Given the description of an element on the screen output the (x, y) to click on. 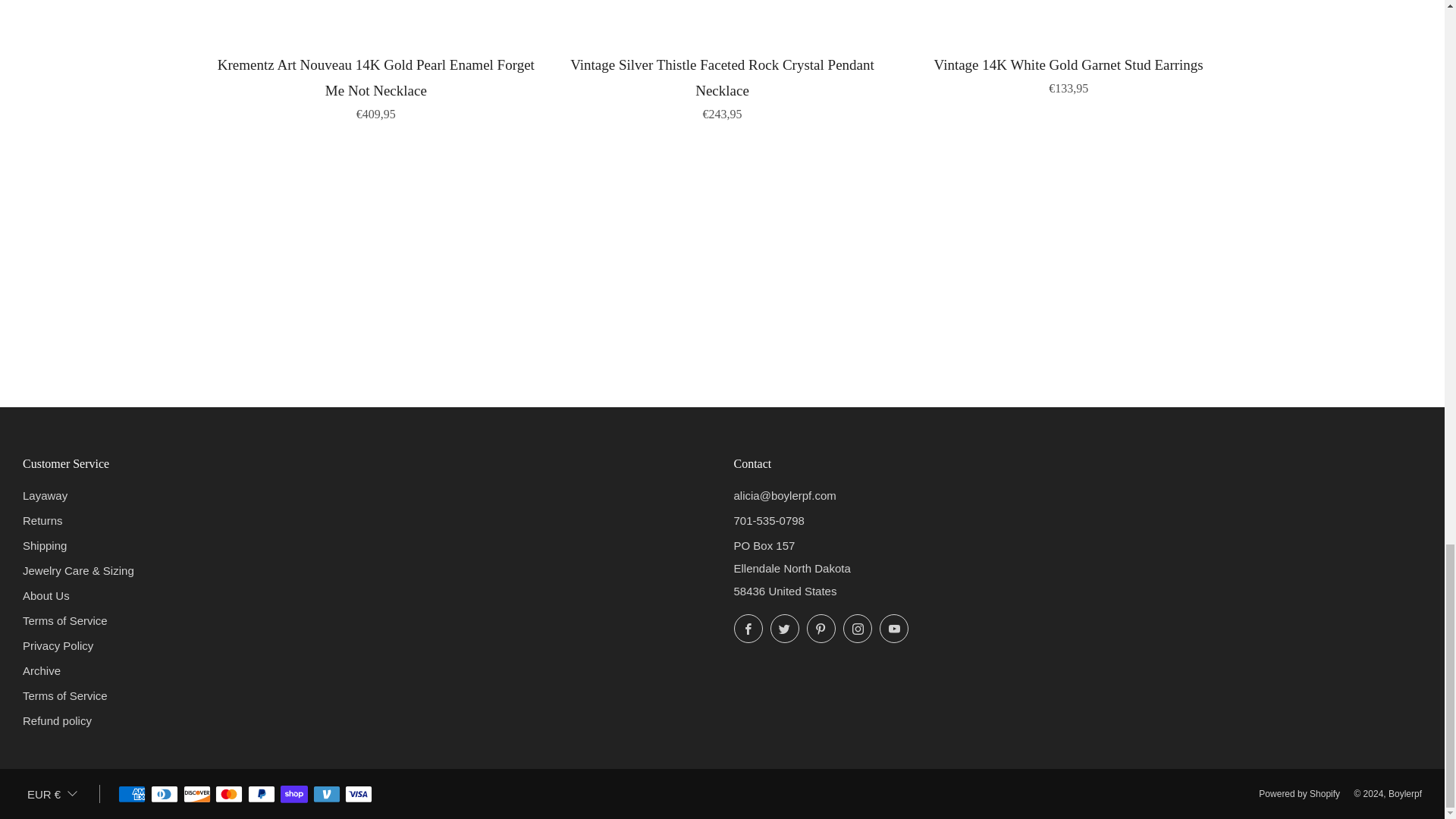
Vintage Silver Thistle Faceted Rock Crystal Pendant Necklace (721, 86)
Vintage 14K White Gold Garnet Stud Earrings (1068, 73)
